Given the description of an element on the screen output the (x, y) to click on. 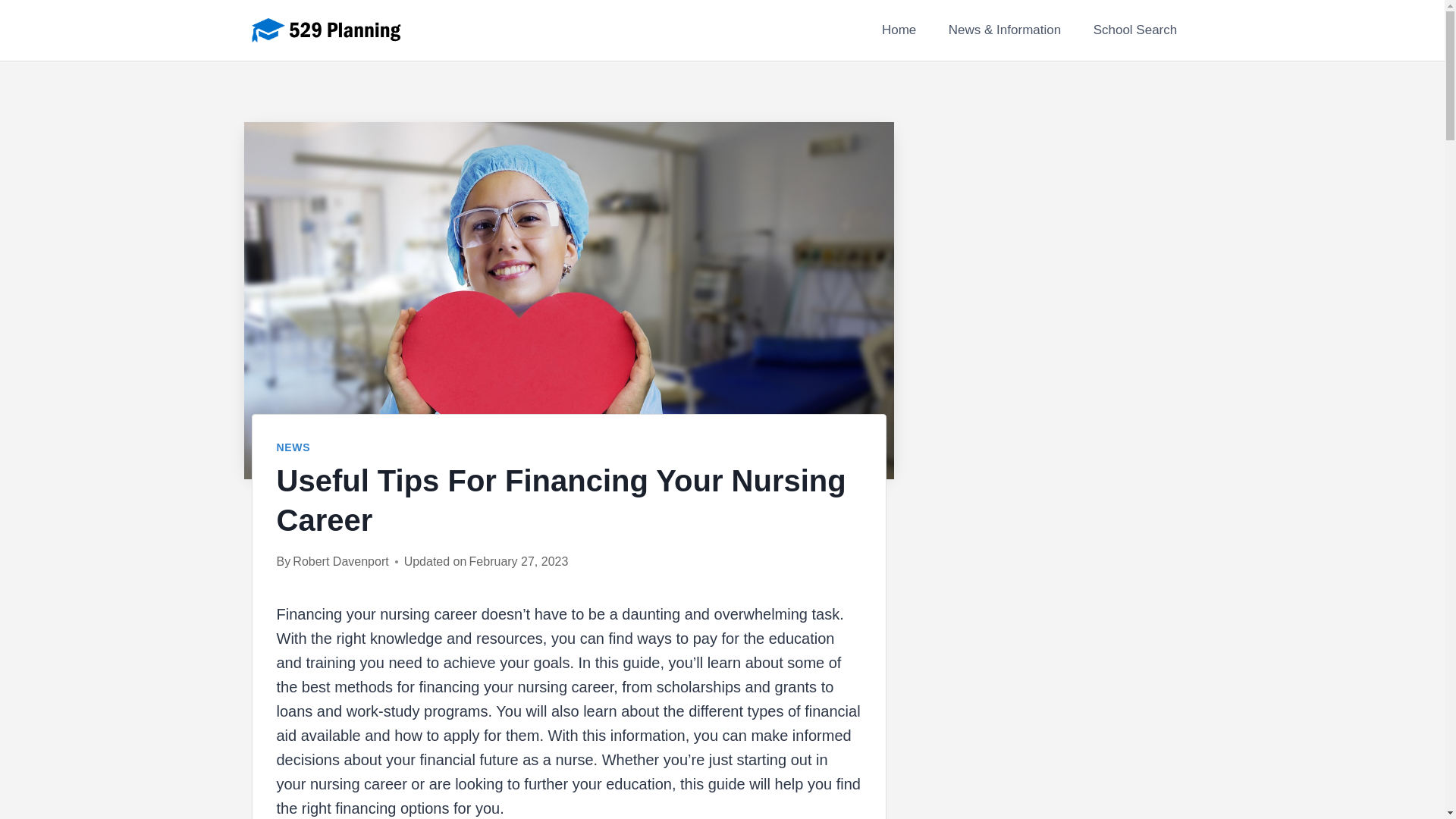
Robert Davenport (340, 561)
NEWS (293, 447)
Home (899, 30)
School Search (1134, 30)
